Given the description of an element on the screen output the (x, y) to click on. 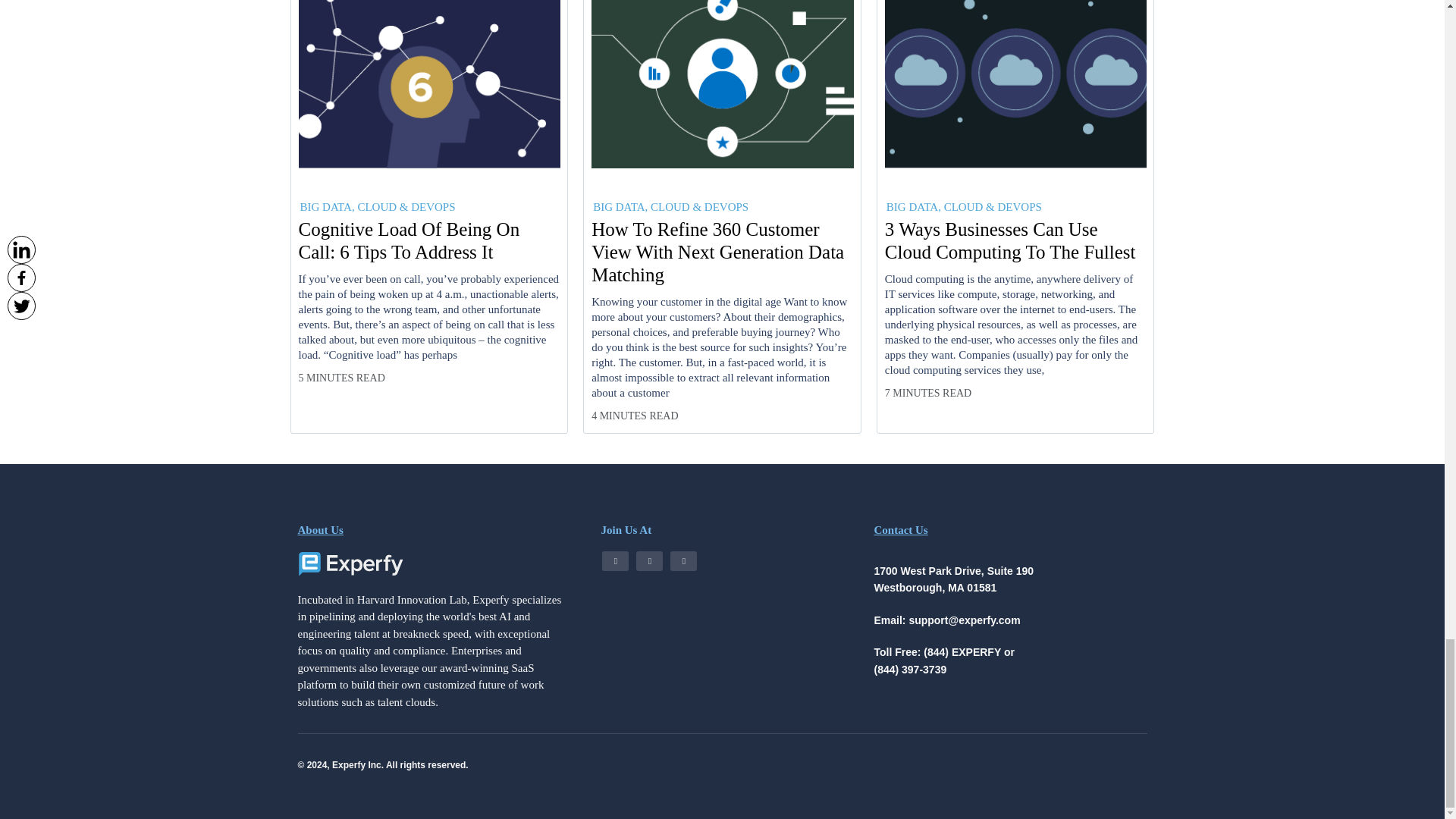
Cognitive Load Of Being On Call: 6 Tips To Address It (429, 240)
